Given the description of an element on the screen output the (x, y) to click on. 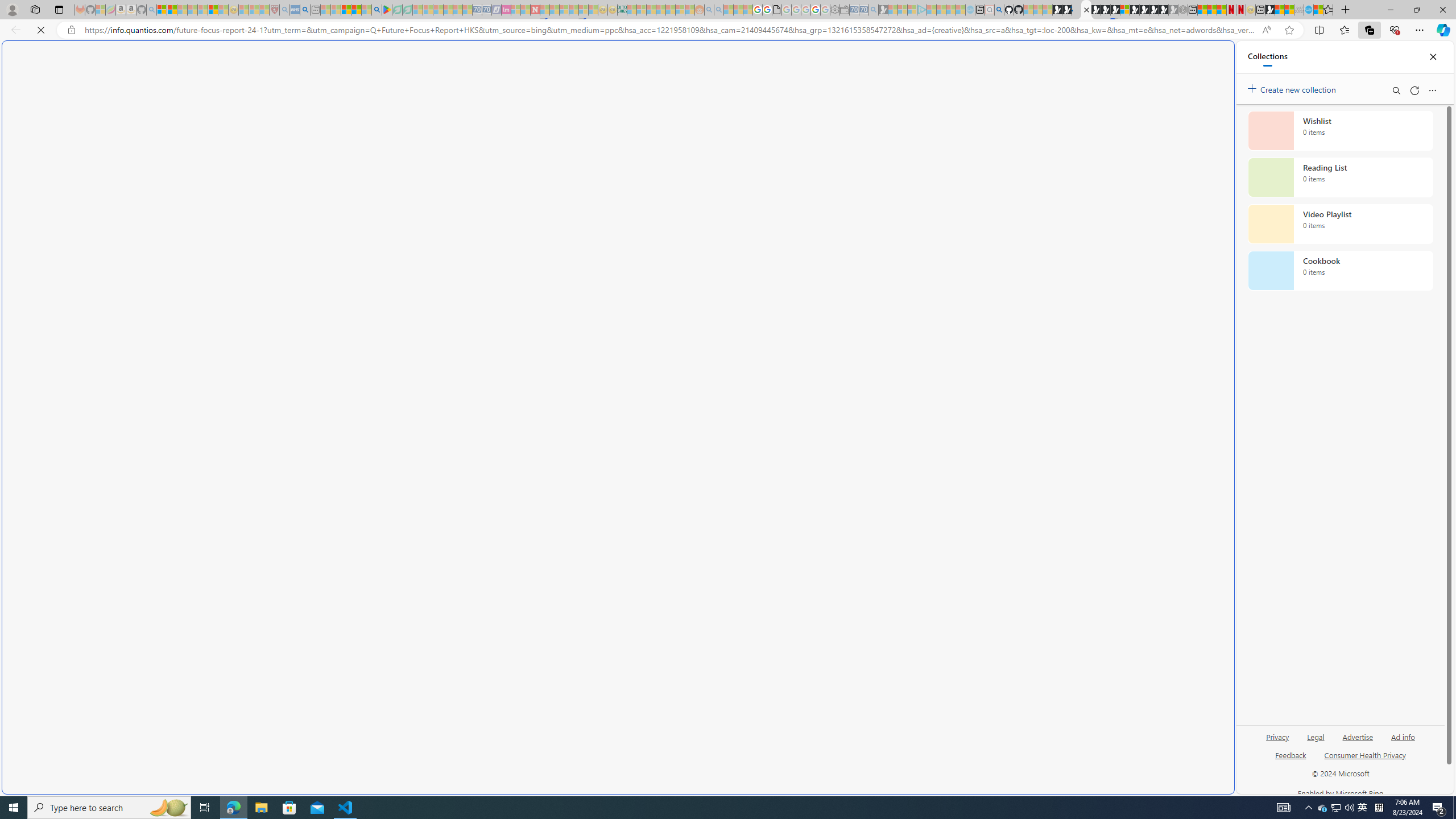
Future Focus Report 2024 (1085, 9)
